Given the description of an element on the screen output the (x, y) to click on. 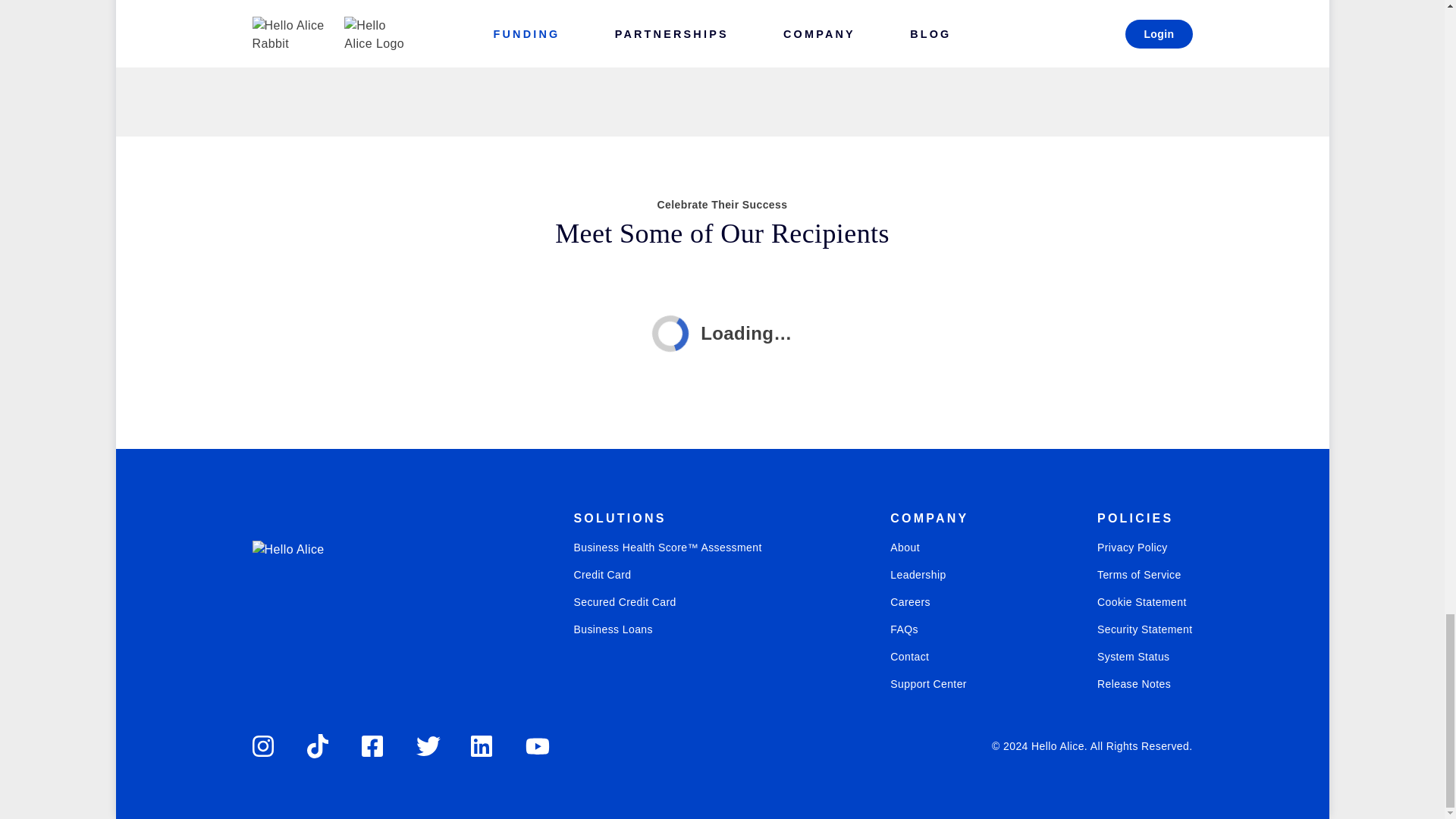
System Status (1144, 656)
Business Loans (667, 629)
Security Statement (1144, 629)
Secured Credit Card (667, 601)
Cookie Statement (1144, 601)
Subscribe (297, 9)
Follow Hello Alice on Twitter (426, 745)
Release Notes (1144, 683)
Terms of Service (1144, 574)
Contact (928, 656)
